Given the description of an element on the screen output the (x, y) to click on. 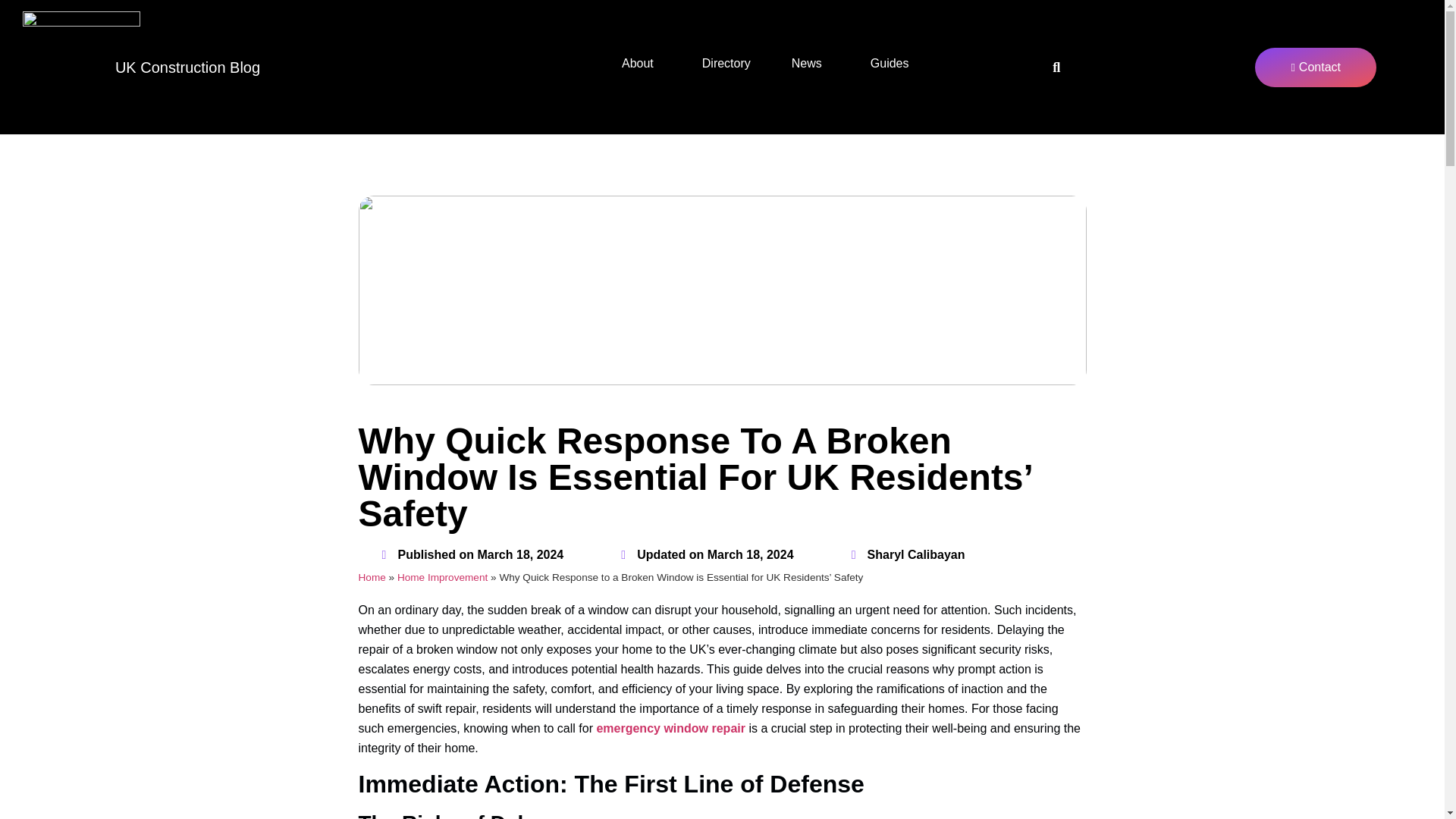
UK Construction Blog (187, 67)
News (810, 62)
Contact (1315, 66)
Guides (893, 62)
About (641, 62)
Directory (726, 62)
